Given the description of an element on the screen output the (x, y) to click on. 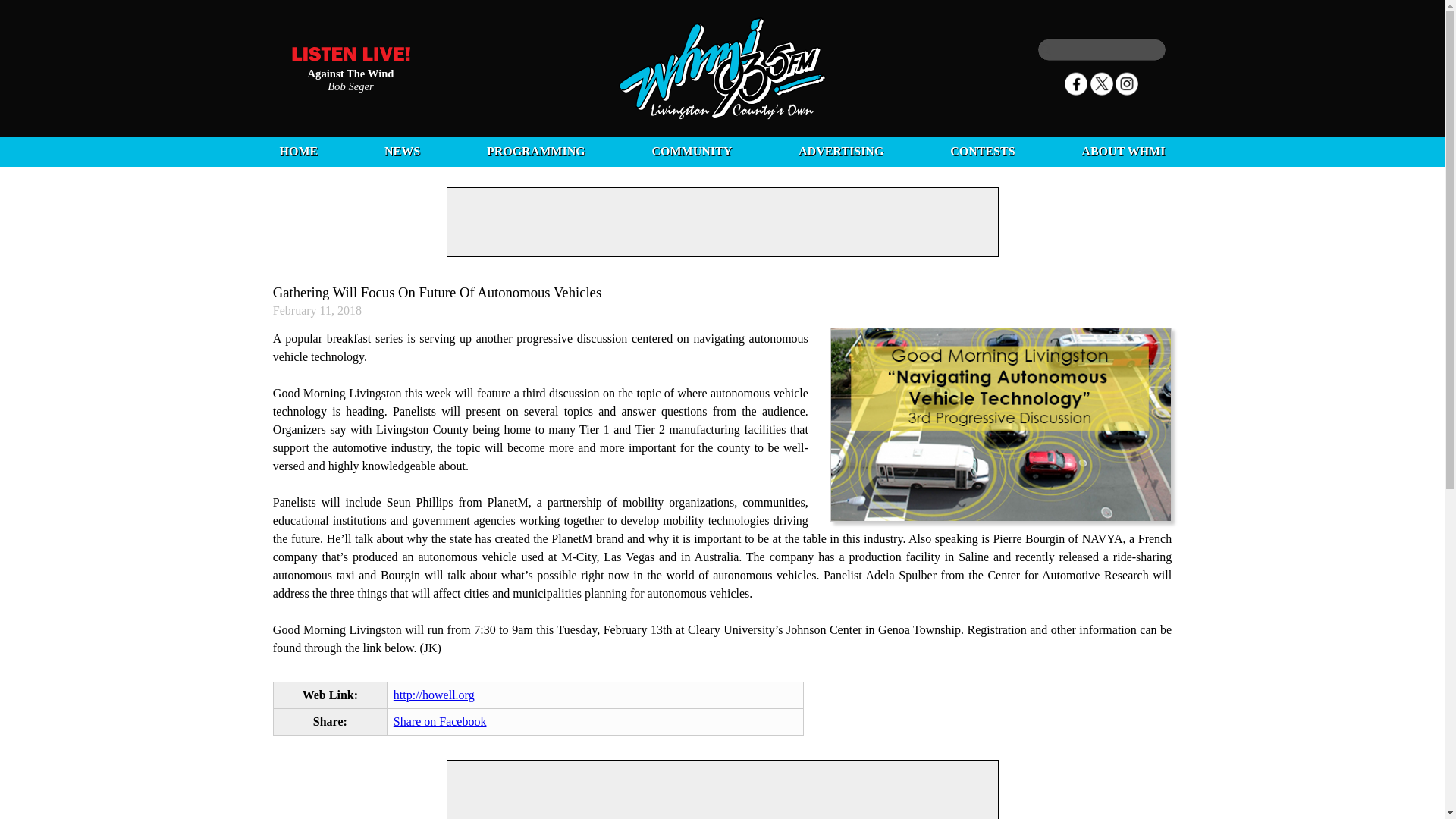
ADVERTISING (840, 151)
Bob Seger (350, 85)
HOME (298, 151)
NEWS (402, 151)
CONTESTS (982, 151)
COMMUNITY (691, 151)
Against The Wind (350, 72)
PROGRAMMING (535, 151)
